Given the description of an element on the screen output the (x, y) to click on. 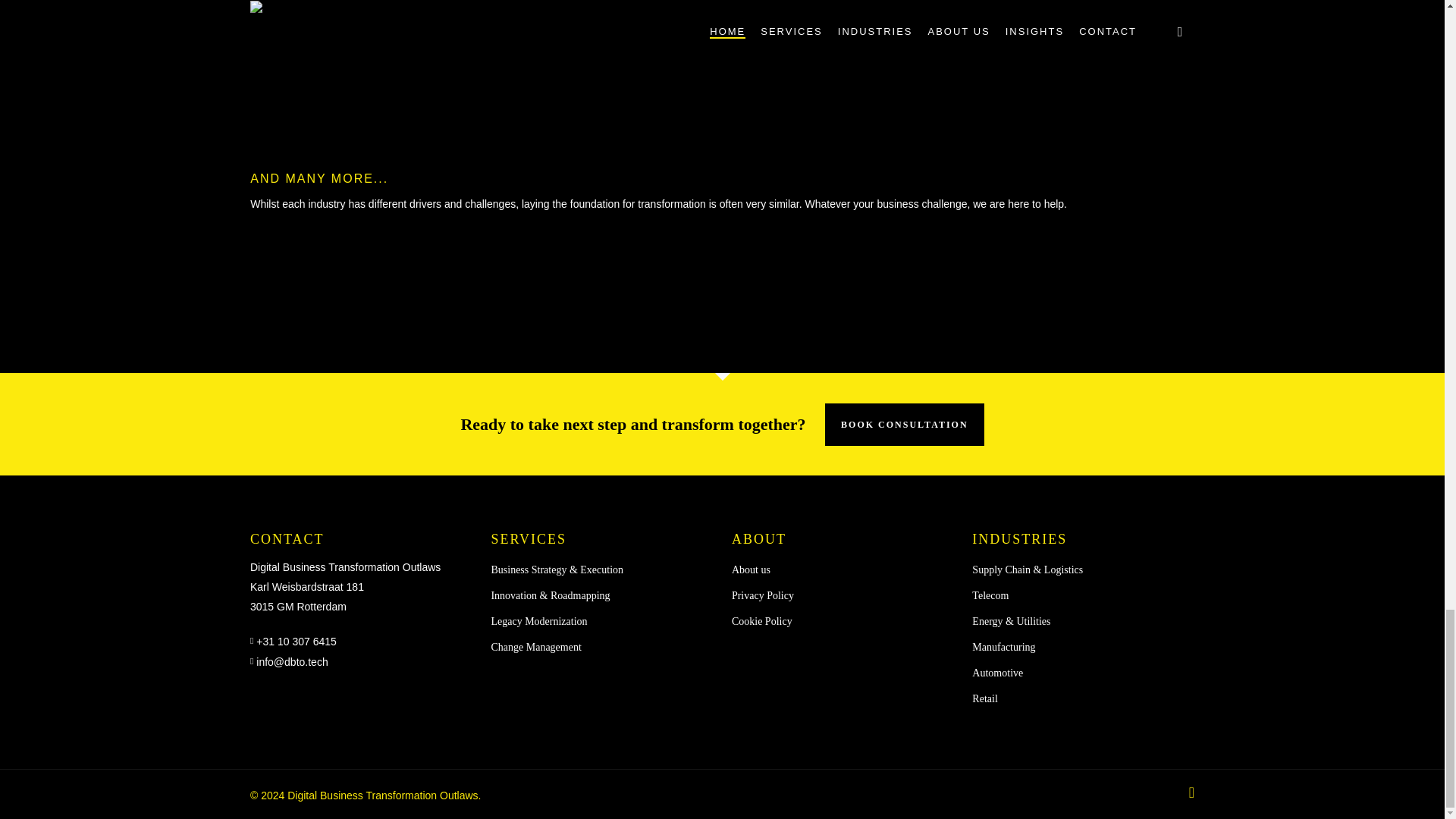
Legacy Modernization (601, 621)
BOOK CONSULTATION (904, 424)
Privacy Policy (842, 596)
About us (842, 569)
Cookie Policy (842, 621)
Change Management (601, 647)
